Given the description of an element on the screen output the (x, y) to click on. 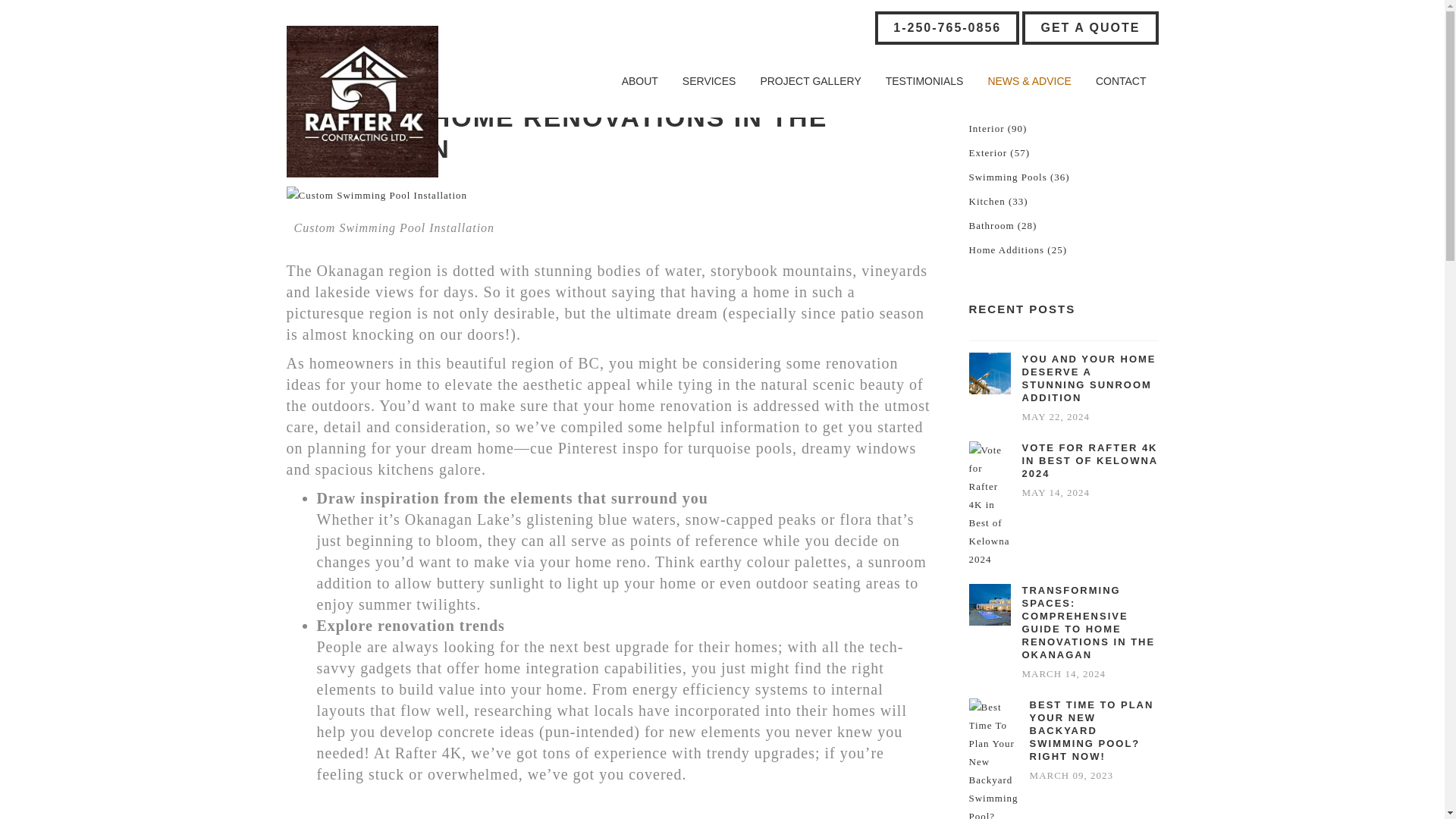
PROJECT GALLERY (810, 81)
Swimming Pools (1007, 177)
Exterior (988, 152)
TESTIMONIALS (924, 81)
Bathroom (991, 225)
SERVICES (708, 81)
1-250-765-0856 (947, 28)
GET A QUOTE (1089, 28)
Interior (986, 128)
Home Additions (1007, 250)
CONTACT (1120, 81)
VOTE FOR RAFTER 4K IN BEST OF KELOWNA 2024 (1090, 460)
YOU AND YOUR HOME DESERVE A STUNNING SUNROOM ADDITION (1090, 378)
